Given the description of an element on the screen output the (x, y) to click on. 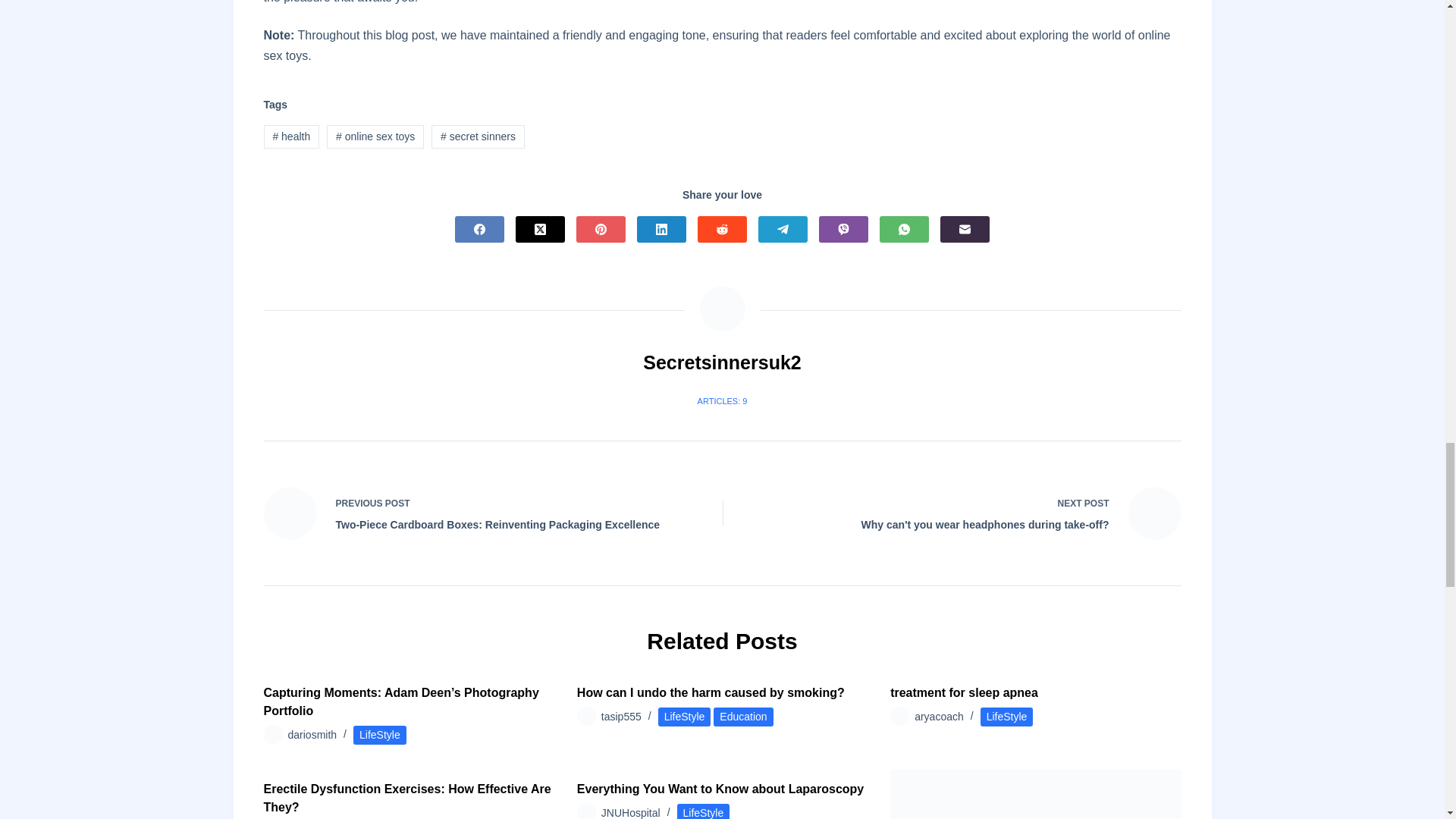
Posts by aryacoach (938, 716)
Posts by tasip555 (621, 716)
Posts by dariosmith (312, 734)
Posts by JNUHospital (631, 812)
